Given the description of an element on the screen output the (x, y) to click on. 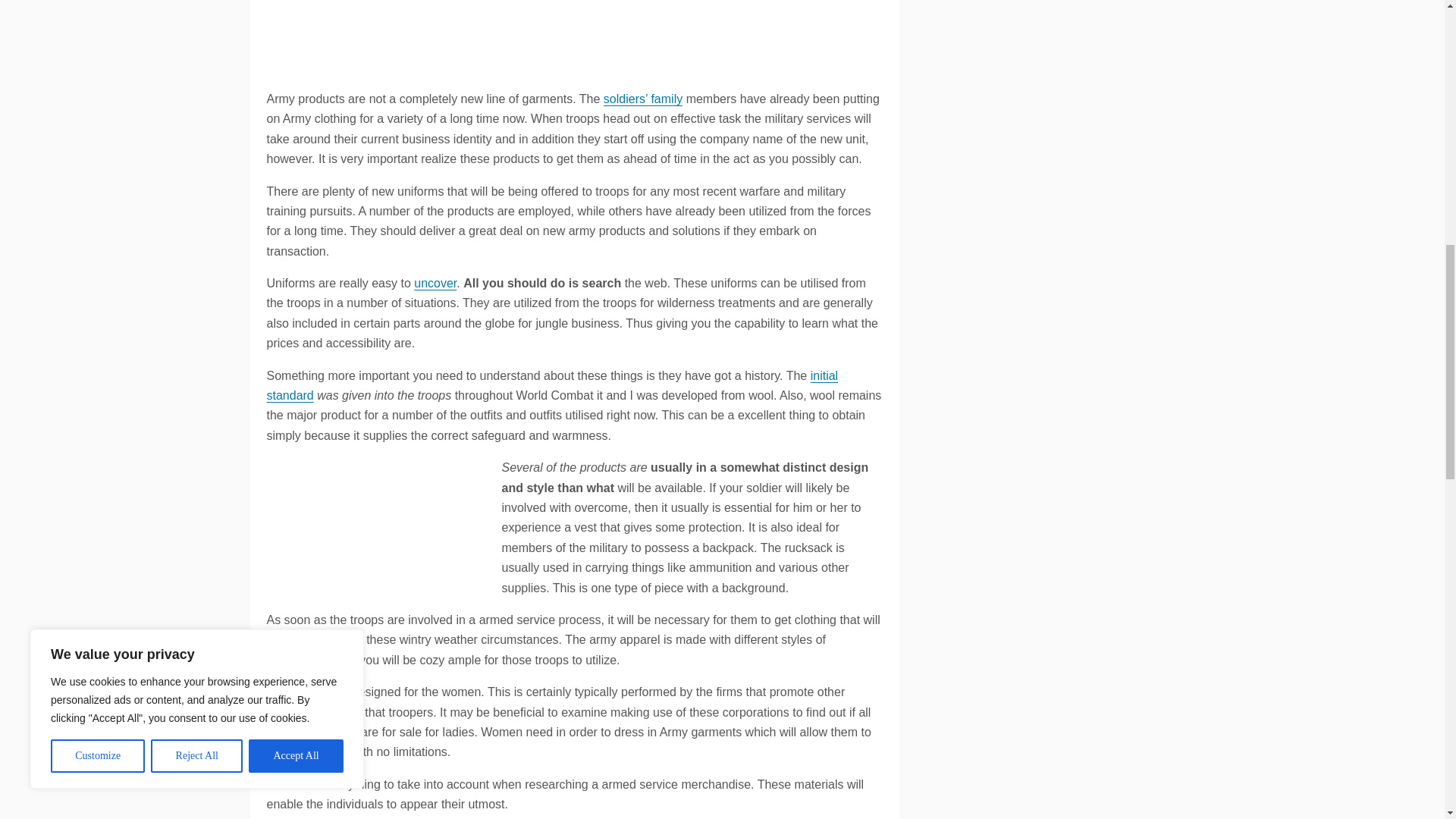
initial standard (552, 385)
uncover (435, 282)
